Given the description of an element on the screen output the (x, y) to click on. 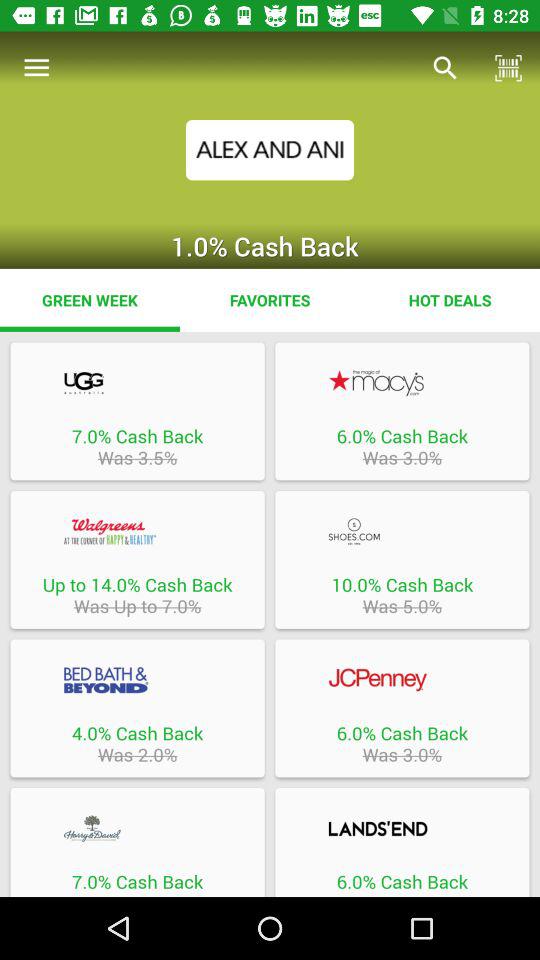
select walgreens (137, 531)
